Given the description of an element on the screen output the (x, y) to click on. 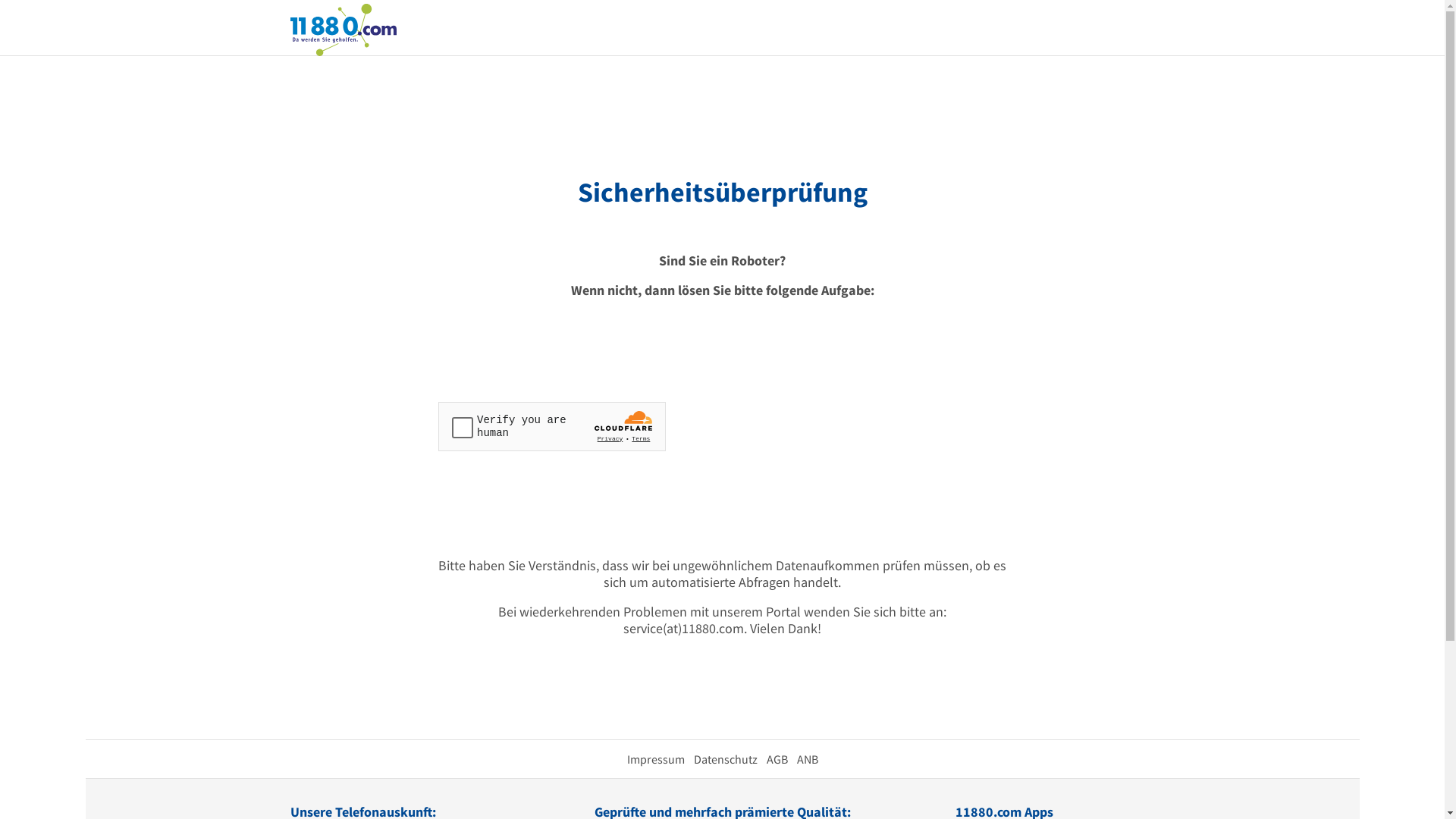
11880.com Element type: hover (342, 28)
Datenschutz Element type: text (724, 758)
ANB Element type: text (806, 758)
Widget containing a Cloudflare security challenge Element type: hover (551, 426)
Impressum Element type: text (655, 758)
AGB Element type: text (776, 758)
